Given the description of an element on the screen output the (x, y) to click on. 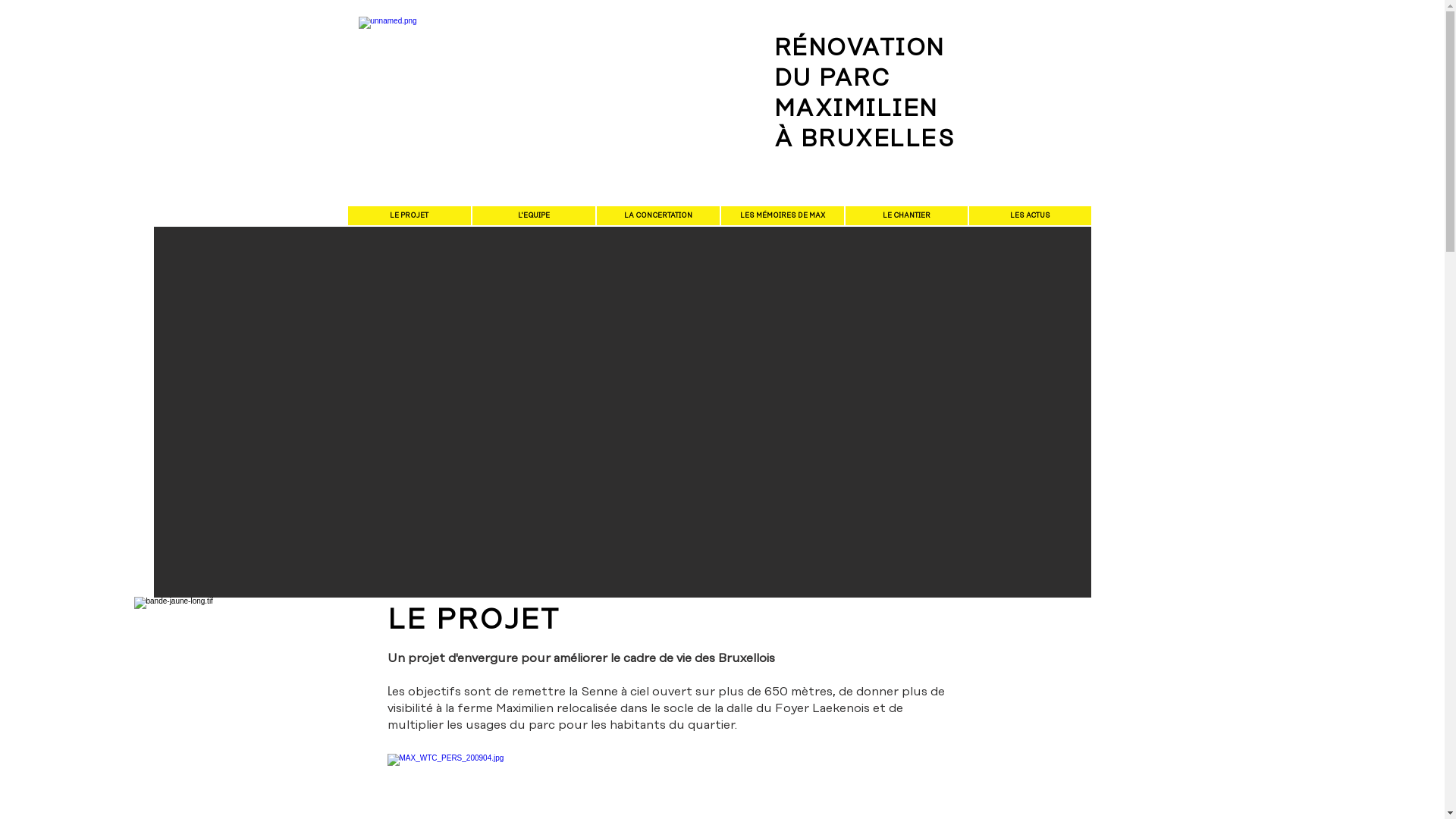
LA CONCERTATION Element type: text (657, 215)
LE PROJET Element type: text (408, 215)
LE CHANTIER Element type: text (905, 215)
LES ACTUS Element type: text (1030, 215)
LE PROJET Element type: text (472, 620)
L'EQUIPE Element type: text (532, 215)
